Given the description of an element on the screen output the (x, y) to click on. 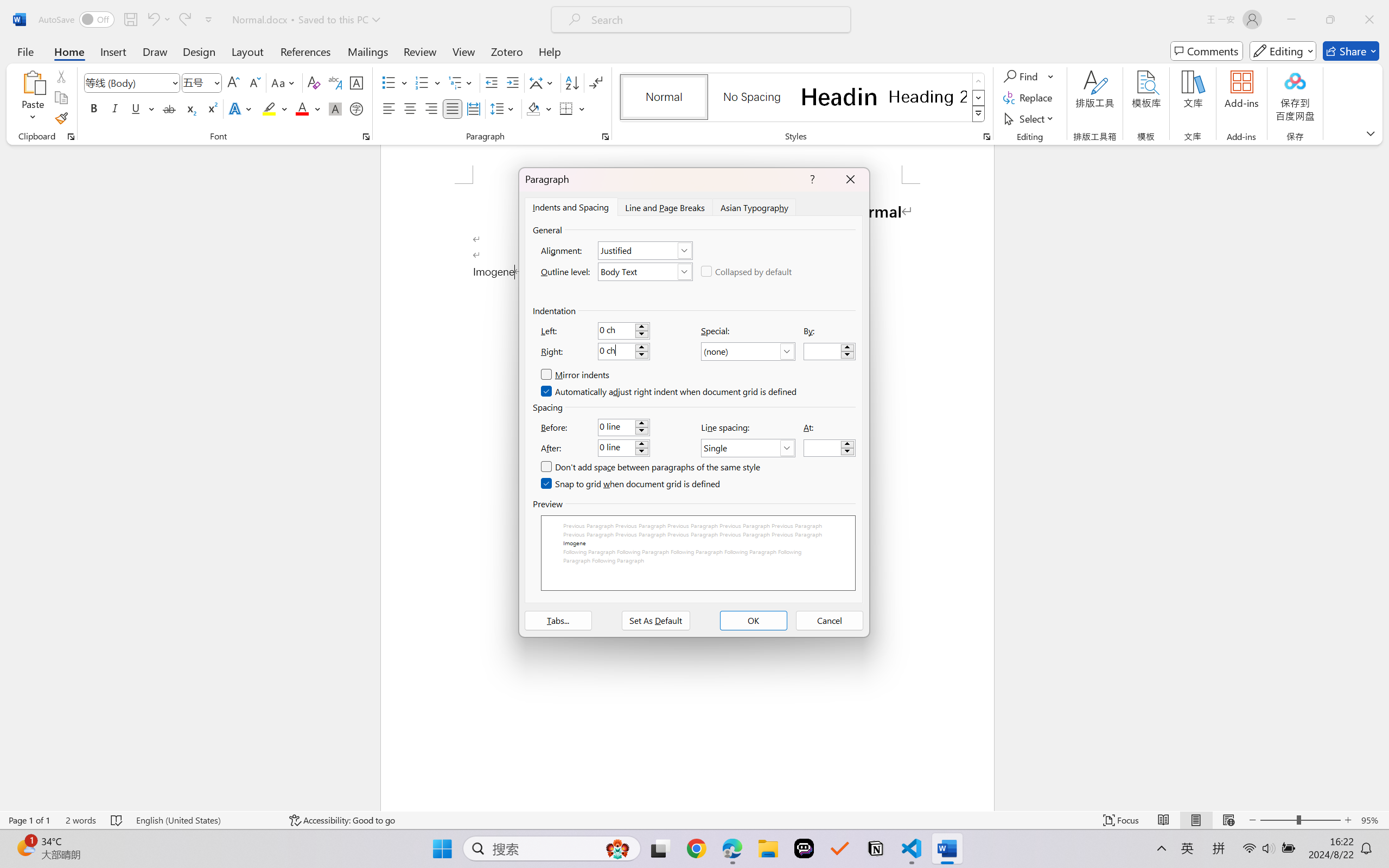
Character Shading (334, 108)
Change Case (284, 82)
Clear Formatting (313, 82)
Cut (60, 75)
Italic (115, 108)
Grow Font (233, 82)
Sort... (571, 82)
